Given the description of an element on the screen output the (x, y) to click on. 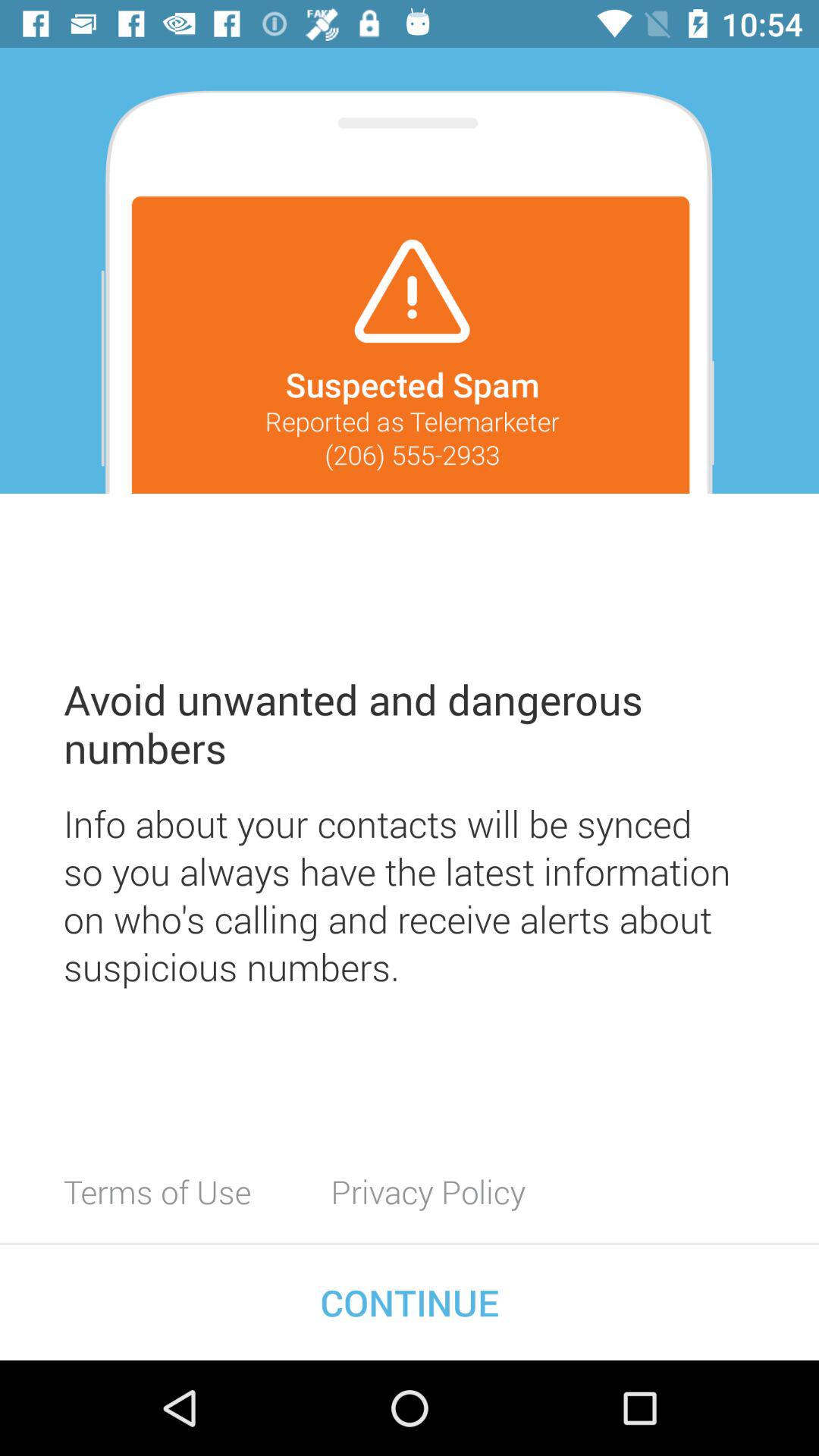
swipe to the terms of use icon (157, 1191)
